Given the description of an element on the screen output the (x, y) to click on. 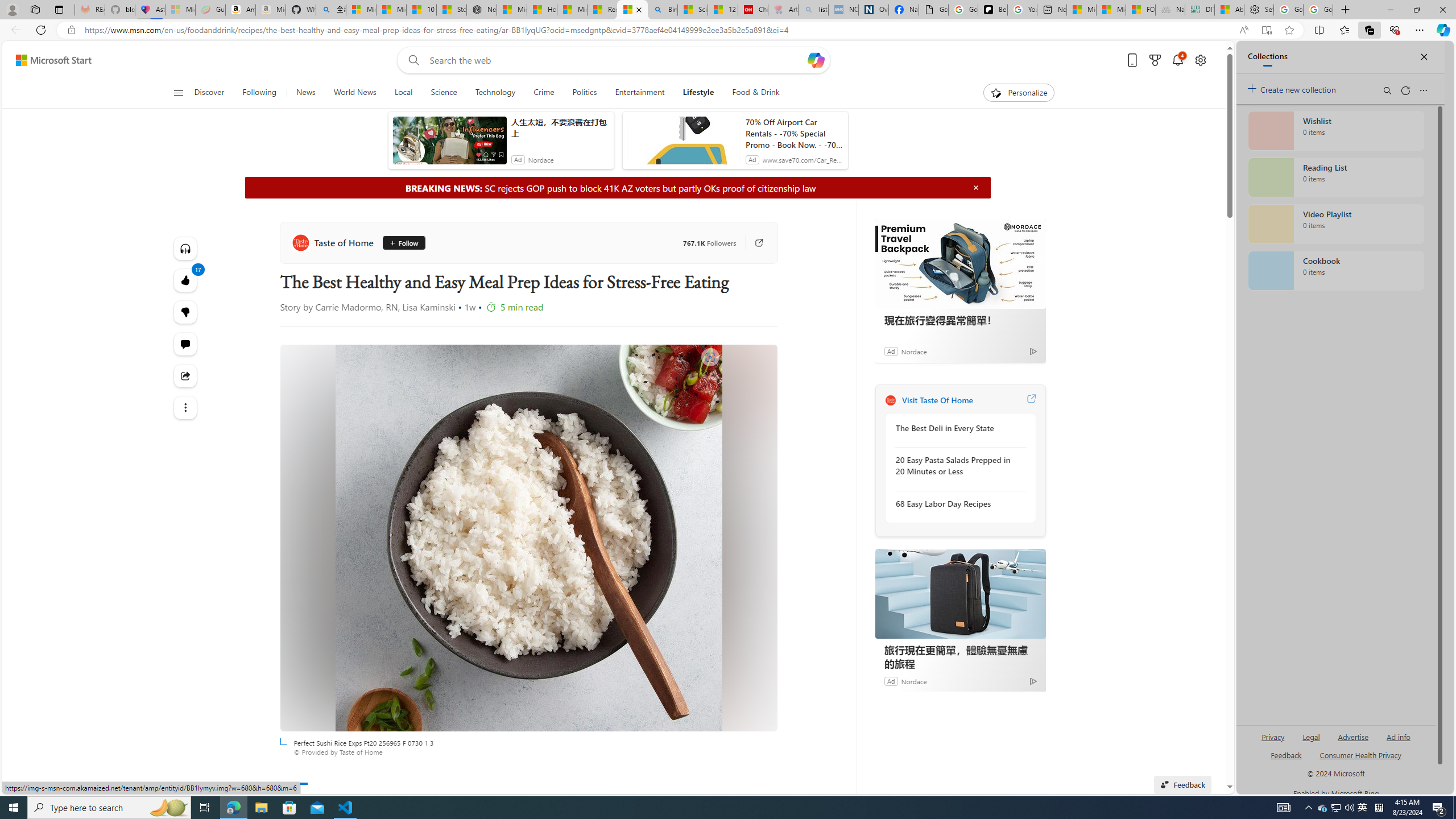
Class: button-glyph (178, 92)
20 Easy Pasta Salads Prepped in 20 Minutes or Less (957, 465)
FOX News - MSN (1140, 9)
Share this story (184, 375)
Science (443, 92)
Food & Drink (751, 92)
